Given the description of an element on the screen output the (x, y) to click on. 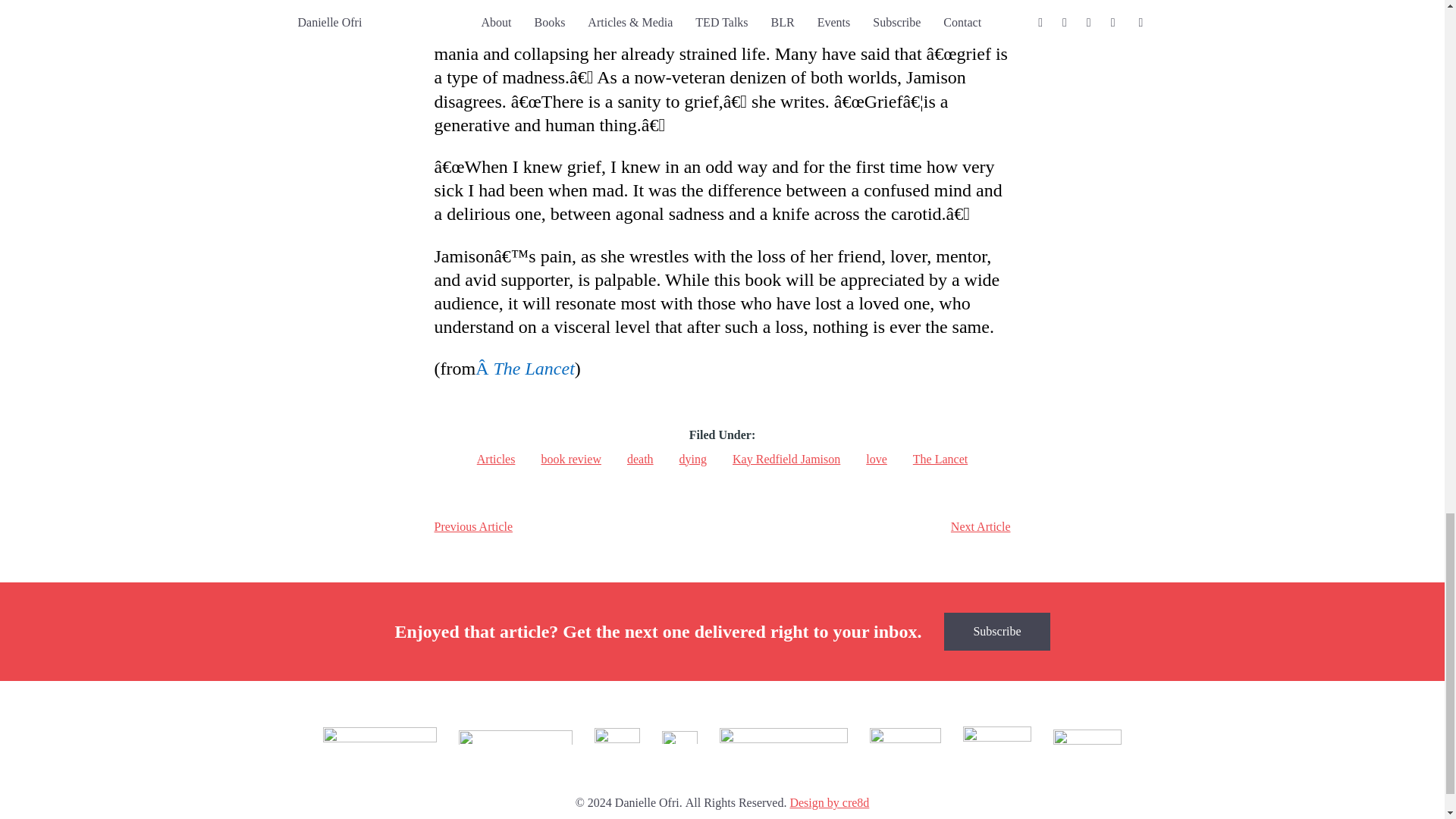
Articles (496, 458)
Kay Redfield Jamison (786, 458)
love (876, 458)
Next Article (980, 526)
dying (692, 458)
book review (570, 458)
Subscribe (996, 631)
The Lancet (940, 458)
Previous Article (472, 526)
death (640, 458)
